Given the description of an element on the screen output the (x, y) to click on. 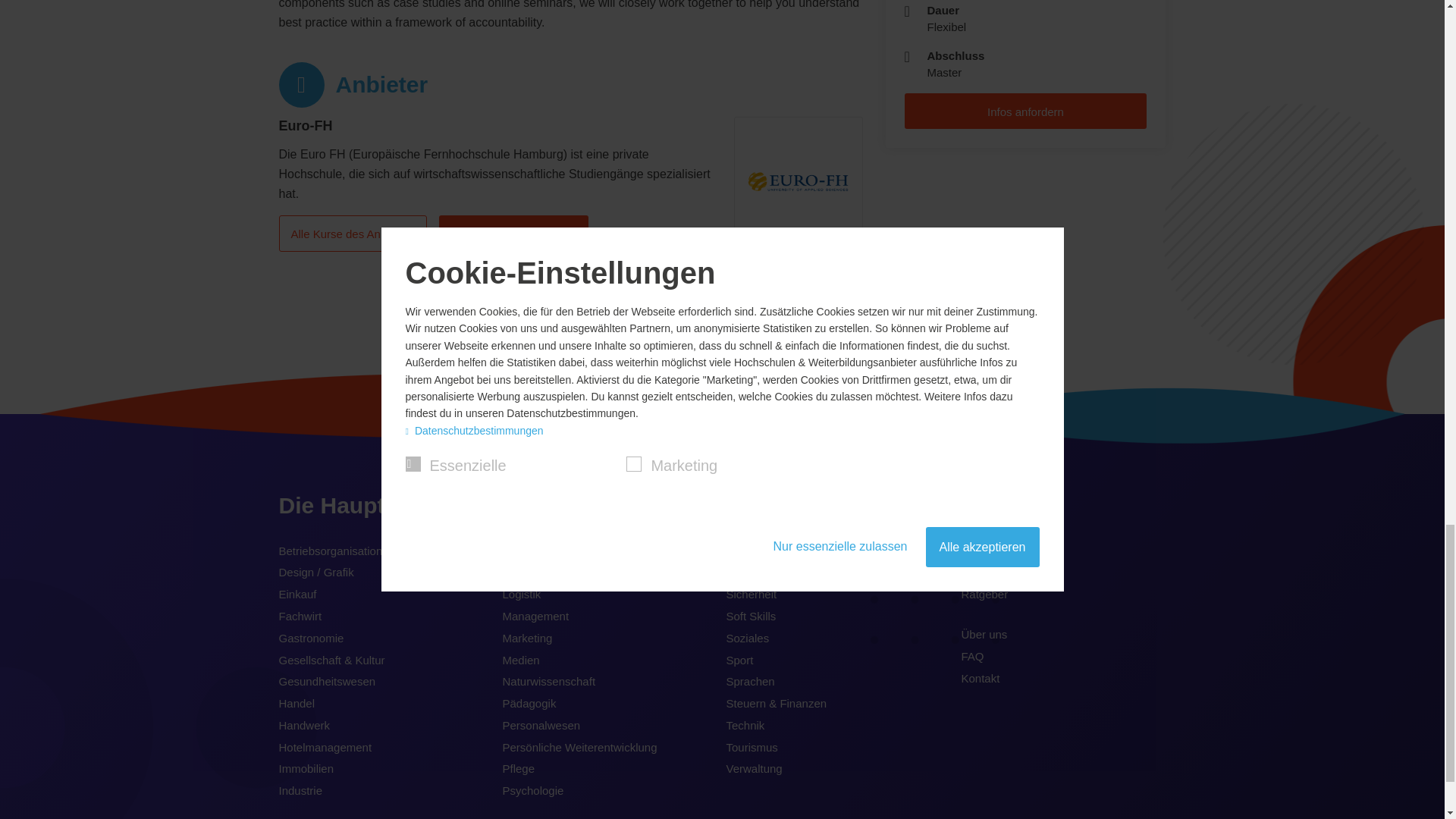
Fachwirt (300, 617)
Gastronomie (311, 638)
Alle Kurse des Anbieters (352, 232)
Betriebsorganisation (330, 550)
Webseite (756, 316)
Detailseite des Anbieters (513, 232)
Infos anfordern (1025, 110)
Einkauf (298, 594)
